Given the description of an element on the screen output the (x, y) to click on. 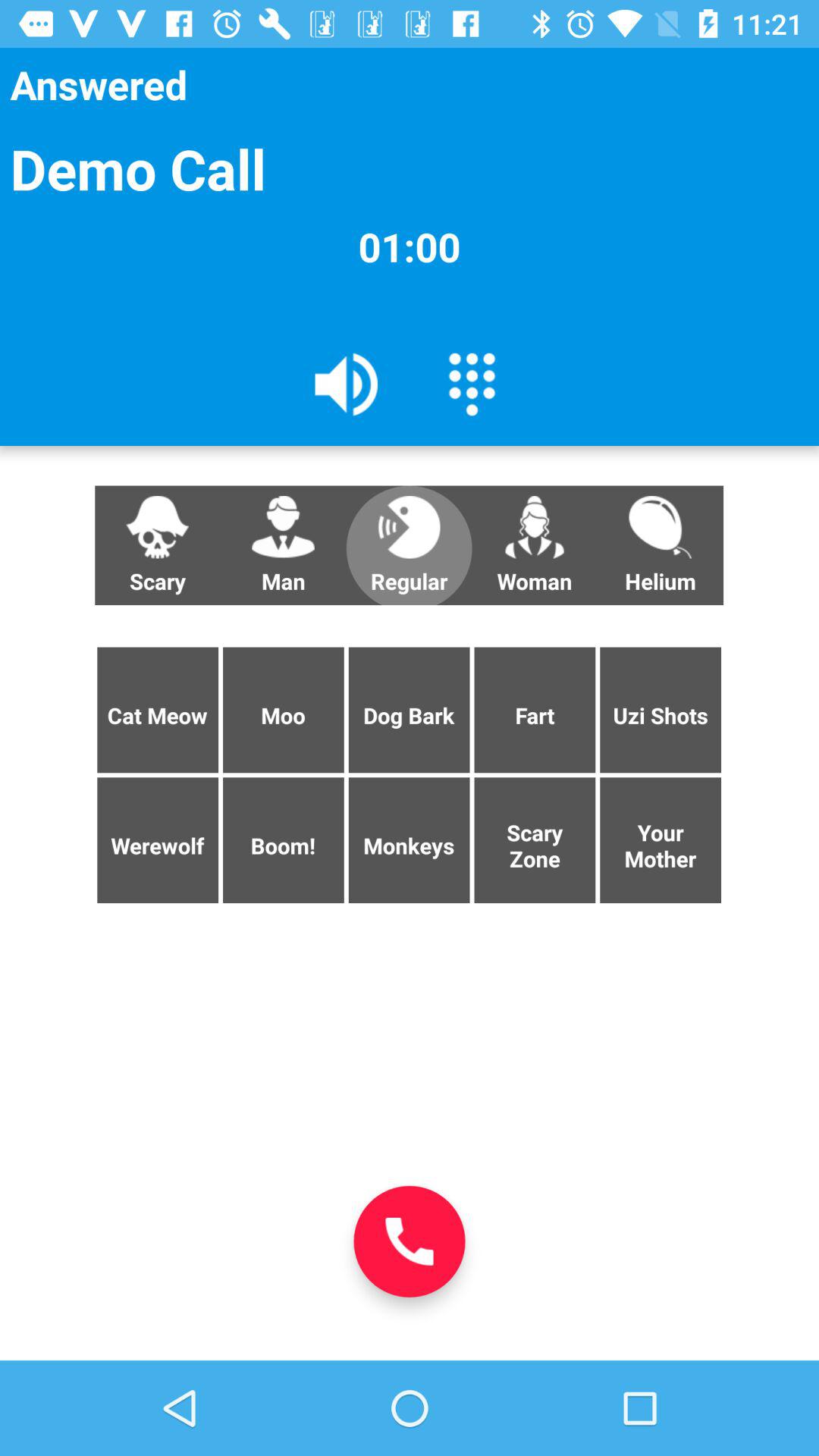
tap the button next to the woman (409, 545)
